Given the description of an element on the screen output the (x, y) to click on. 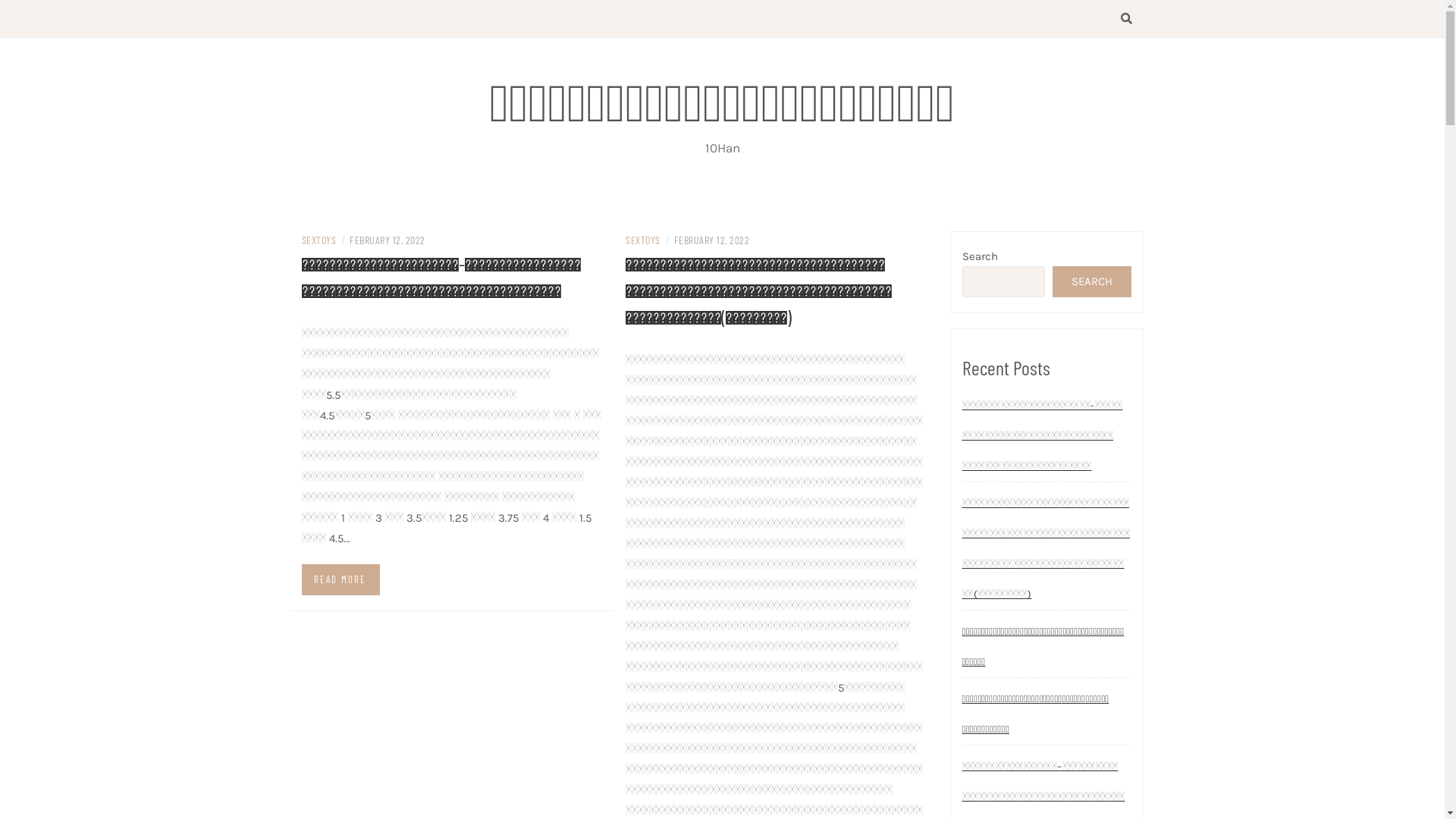
READ MORE Element type: text (340, 579)
SEXTOYS Element type: text (318, 239)
SEARCH Element type: text (1091, 281)
SEXTOYS Element type: text (642, 239)
